Given the description of an element on the screen output the (x, y) to click on. 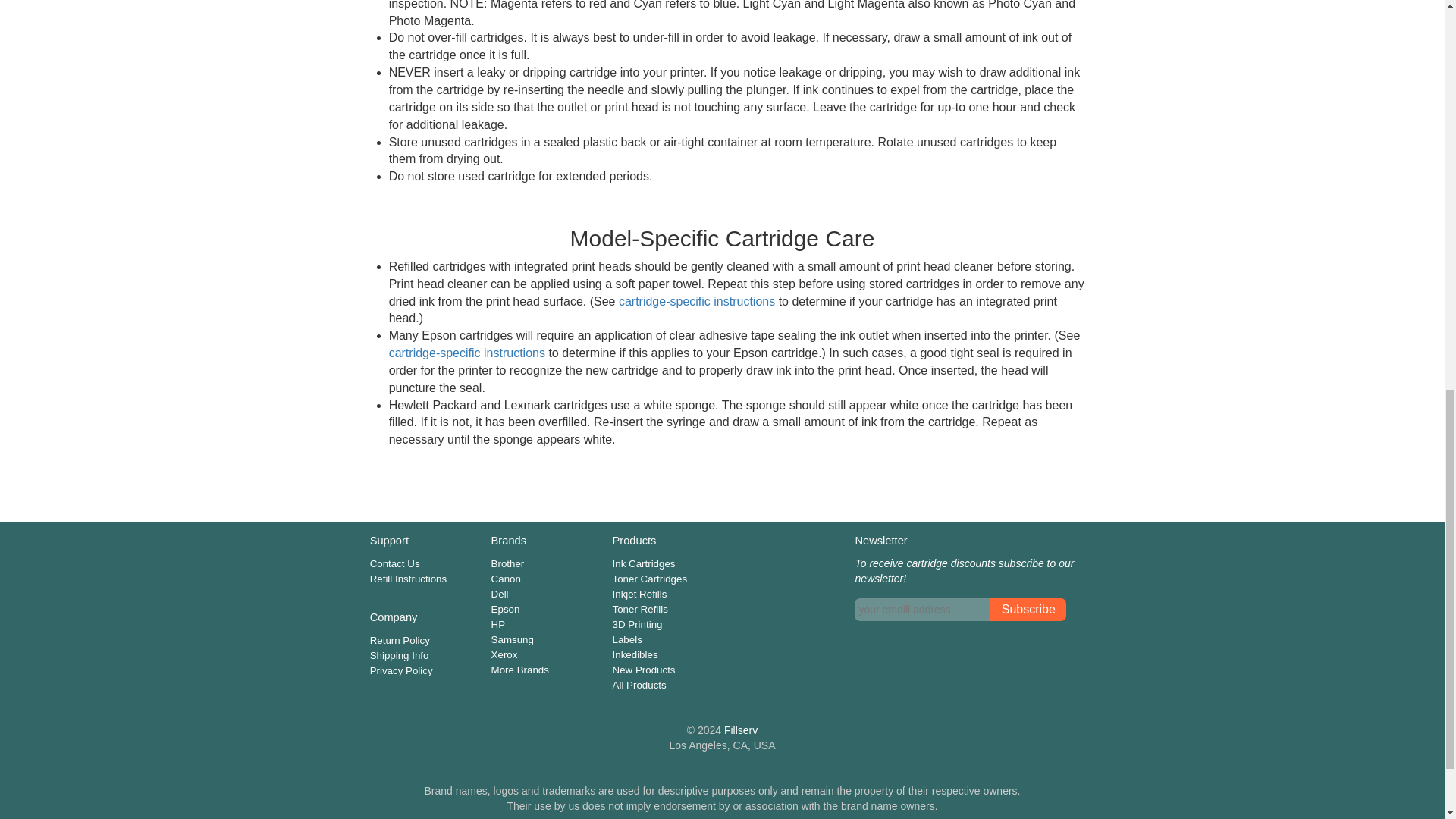
Toner Cartridges (649, 578)
More Brands (520, 669)
Dell (500, 593)
Inkjet Refill Instructions (696, 300)
Privacy Policy (400, 670)
Contact Us (394, 563)
Samsung (513, 639)
Inkjet Refills (639, 593)
Shipping Info (399, 655)
cartridge-specific instructions (696, 300)
